Given the description of an element on the screen output the (x, y) to click on. 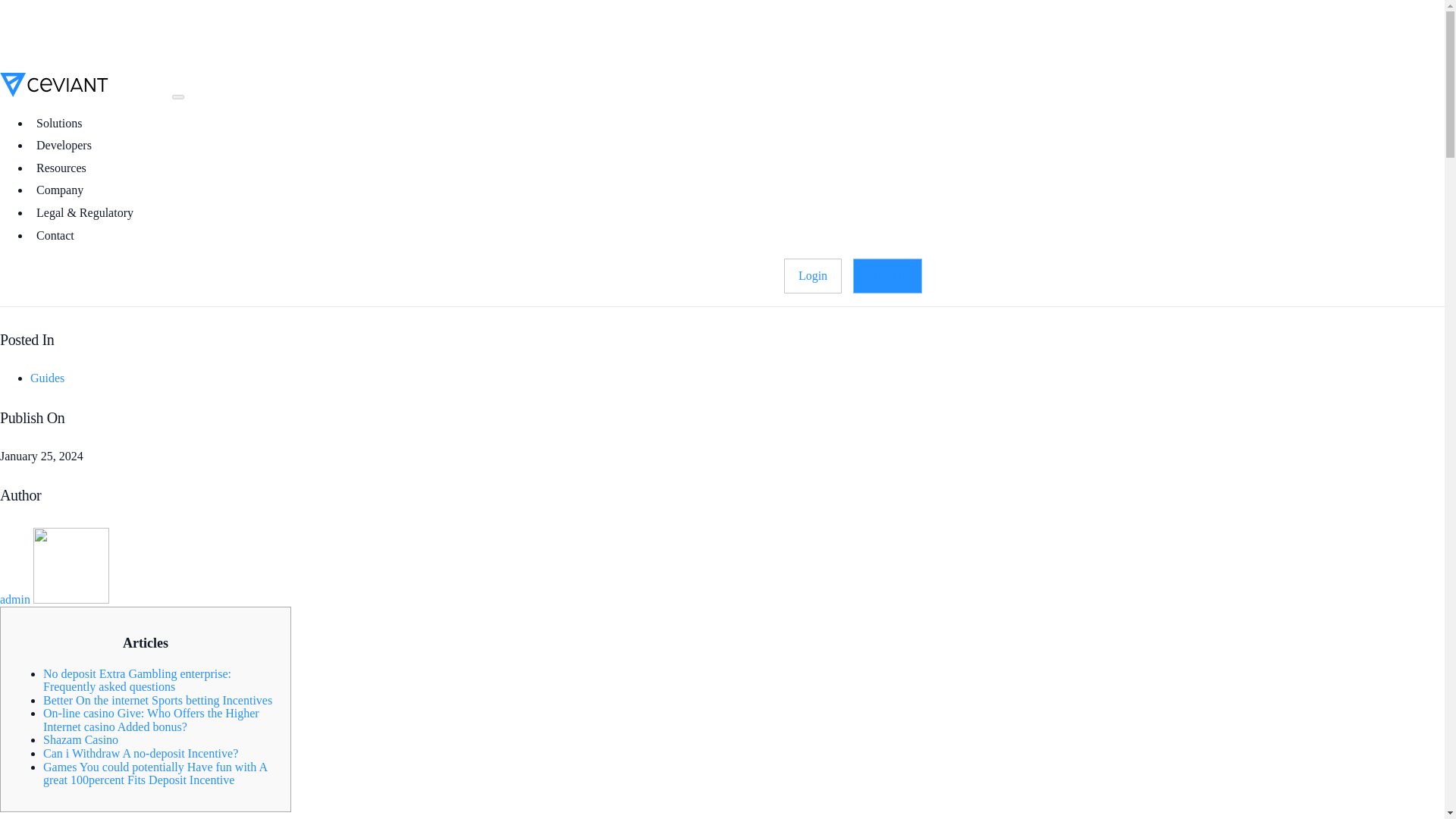
Resources (66, 168)
Company (65, 190)
Resources (66, 168)
Shazam Casino (80, 739)
Can i Withdraw A no-deposit Incentive? (140, 753)
Solutions (64, 123)
Contact (55, 235)
Developers (63, 145)
Login (812, 275)
Better On the internet Sports betting Incentives (157, 699)
Company (65, 190)
Guides (47, 377)
Solutions (64, 123)
